Given the description of an element on the screen output the (x, y) to click on. 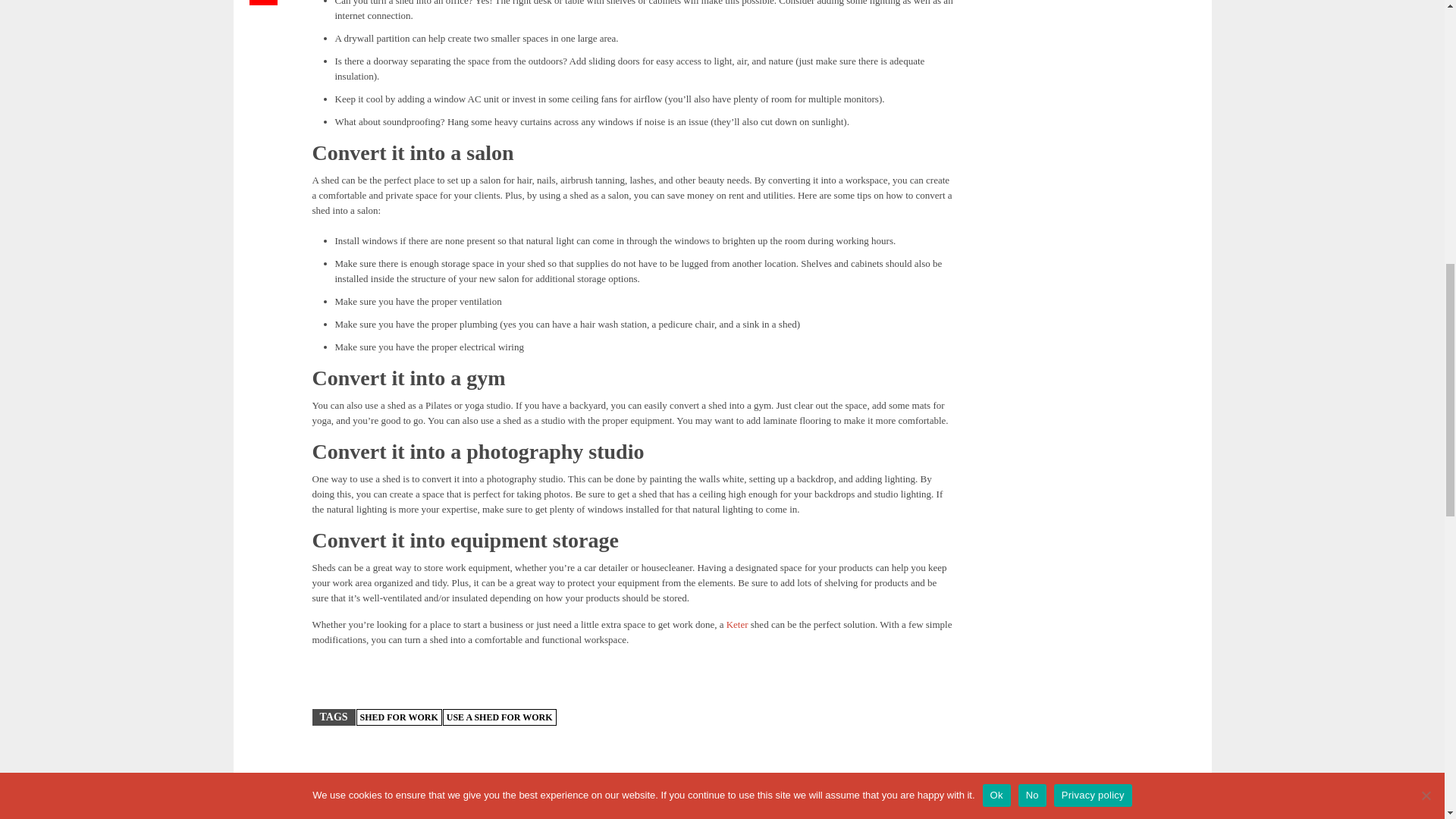
USE A SHED FOR WORK (499, 717)
Keter (737, 624)
SHED FOR WORK (399, 717)
